Given the description of an element on the screen output the (x, y) to click on. 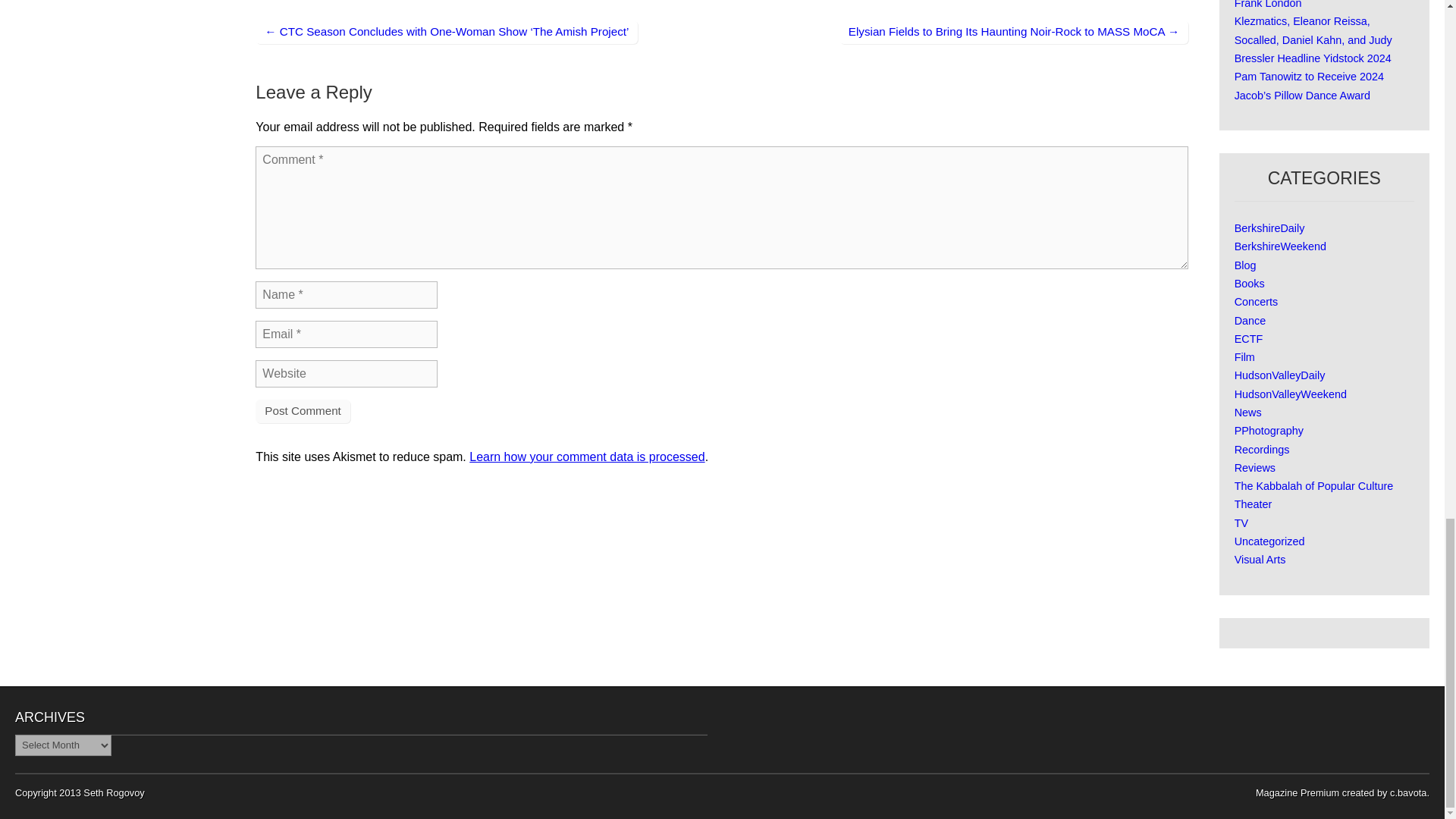
Post Comment (302, 410)
